Given the description of an element on the screen output the (x, y) to click on. 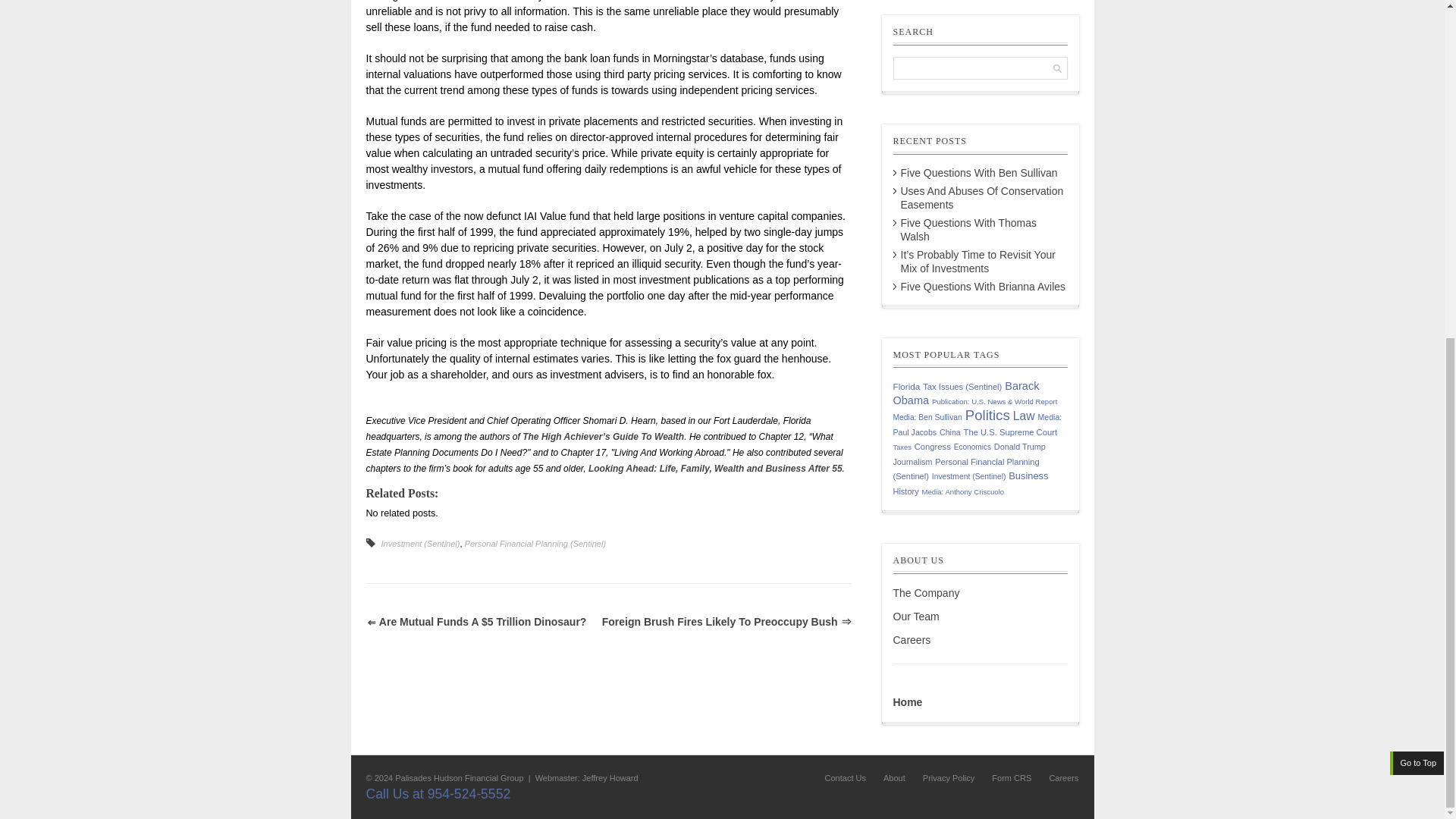
Five Questions With Thomas Walsh (968, 229)
Five Questions With Brianna Aviles (983, 286)
Looking Ahead: Life, Family, Wealth and Business After 55 (715, 468)
Five Questions With Ben Sullivan (979, 173)
Florida (906, 386)
Uses And Abuses Of Conservation Easements (982, 197)
